Given the description of an element on the screen output the (x, y) to click on. 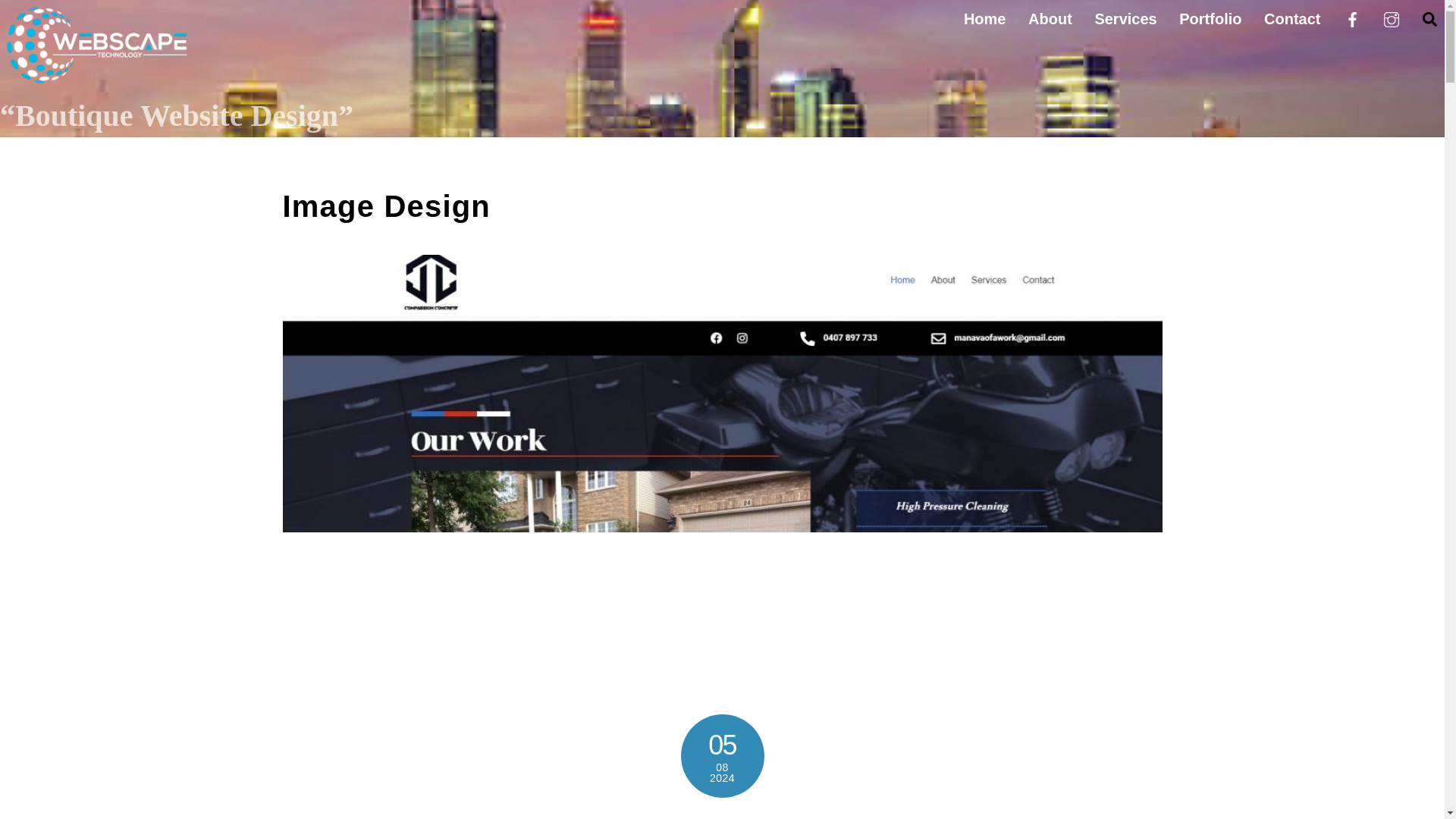
LogoTrans2070x930-White-02 (94, 46)
Portfolio (1210, 18)
About (1050, 18)
Webscape (94, 79)
Home (984, 18)
Services (1125, 18)
Contact (1292, 18)
Compassion Concrete (721, 816)
